Given the description of an element on the screen output the (x, y) to click on. 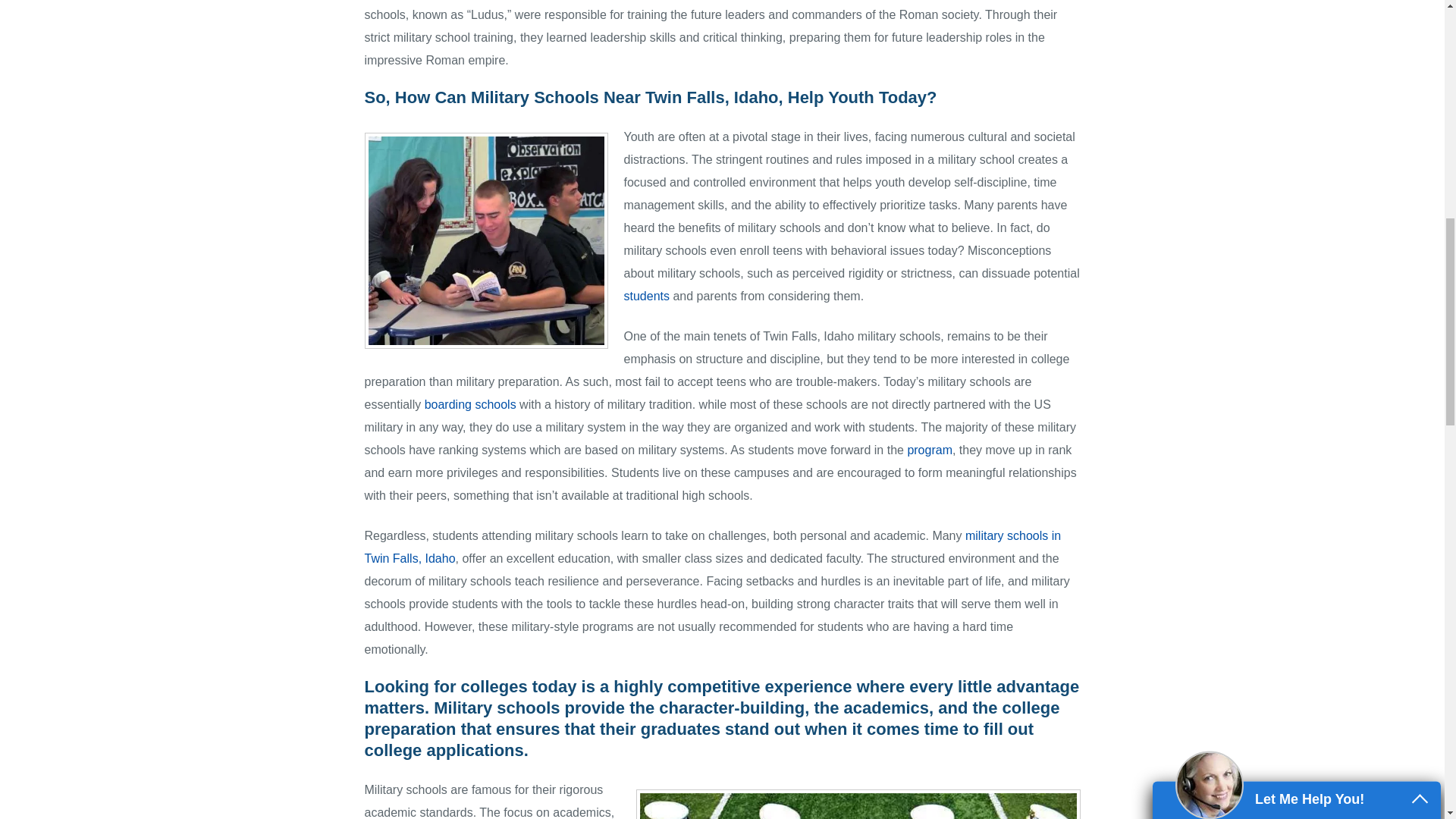
CLICK FOR FREE HELP NOW (1296, 374)
boarding schools (470, 404)
military schools in Twin Falls, Idaho (712, 547)
students (645, 295)
CLICK FOR FREE HELP NOW (1297, 375)
program (929, 449)
